Given the description of an element on the screen output the (x, y) to click on. 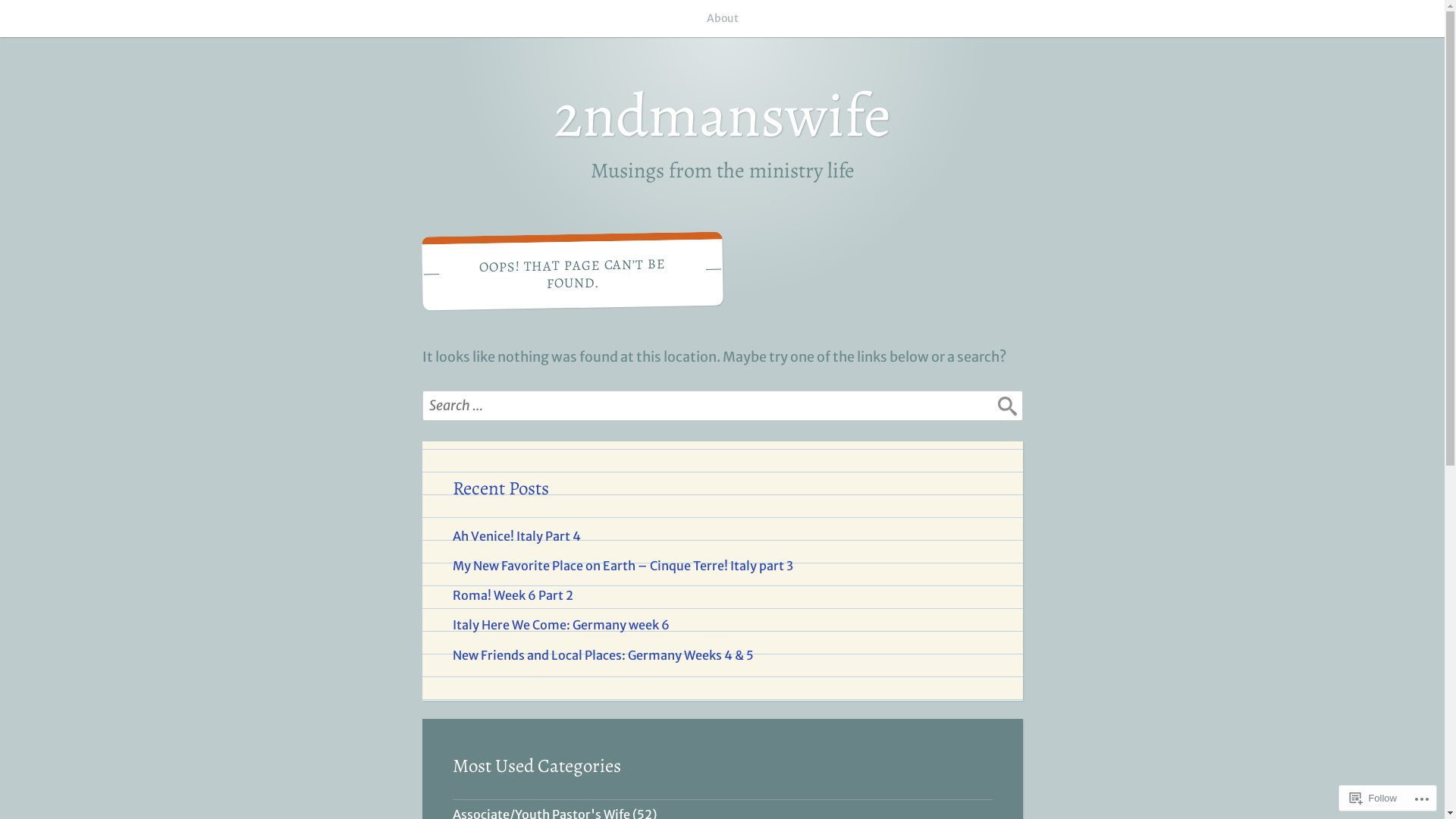
Search Element type: text (1006, 415)
New Friends and Local Places: Germany Weeks 4 & 5 Element type: text (602, 654)
Italy Here We Come: Germany week 6 Element type: text (559, 624)
2ndmanswife Element type: text (722, 115)
About Element type: text (722, 18)
Roma! Week 6 Part 2 Element type: text (511, 594)
Ah Venice! Italy Part 4 Element type: text (515, 535)
Follow Element type: text (1372, 797)
